Given the description of an element on the screen output the (x, y) to click on. 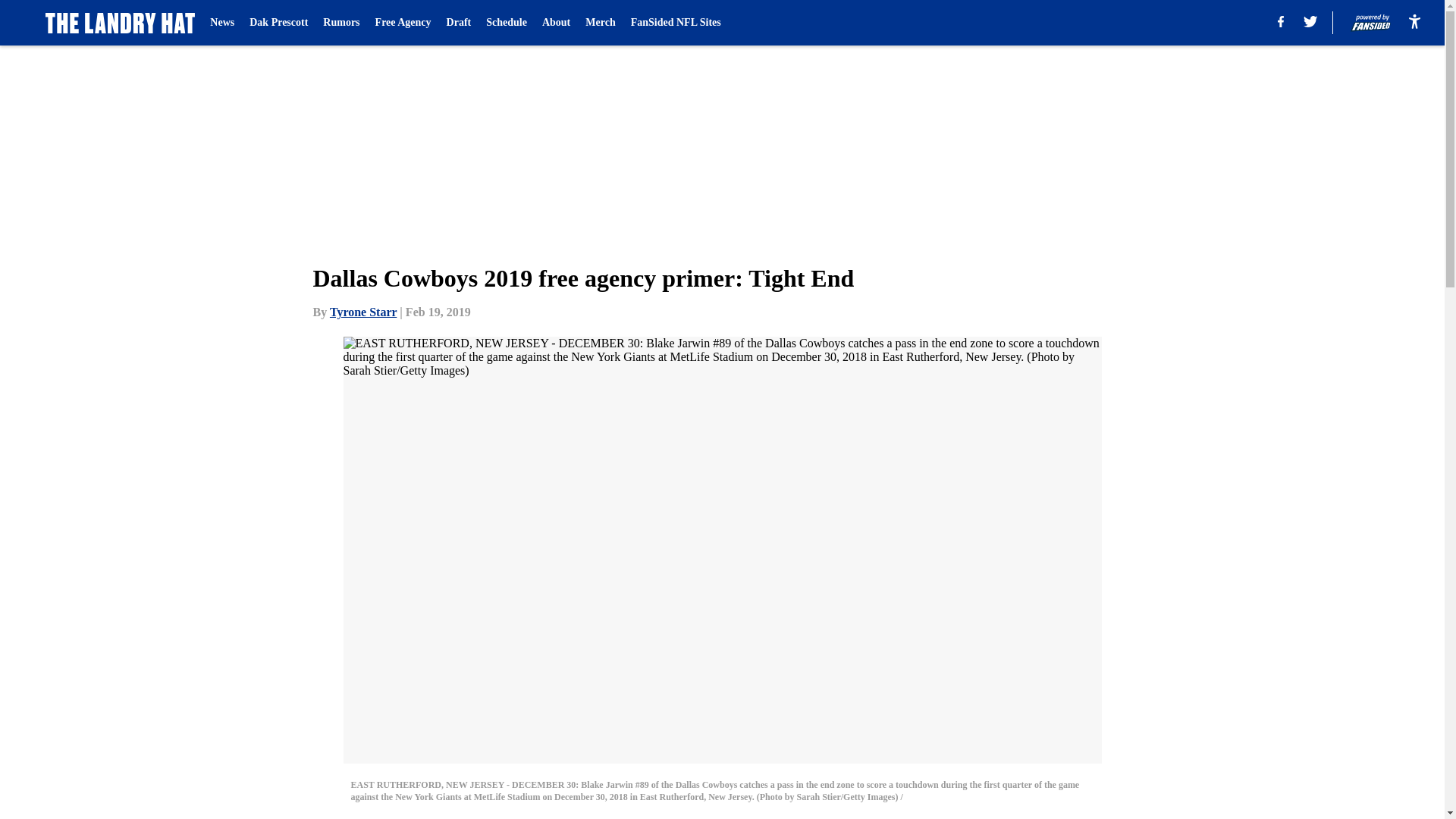
News (221, 22)
Merch (599, 22)
Dak Prescott (277, 22)
About (555, 22)
FanSided NFL Sites (675, 22)
Draft (458, 22)
Rumors (341, 22)
Tyrone Starr (363, 311)
Free Agency (402, 22)
Schedule (506, 22)
